Given the description of an element on the screen output the (x, y) to click on. 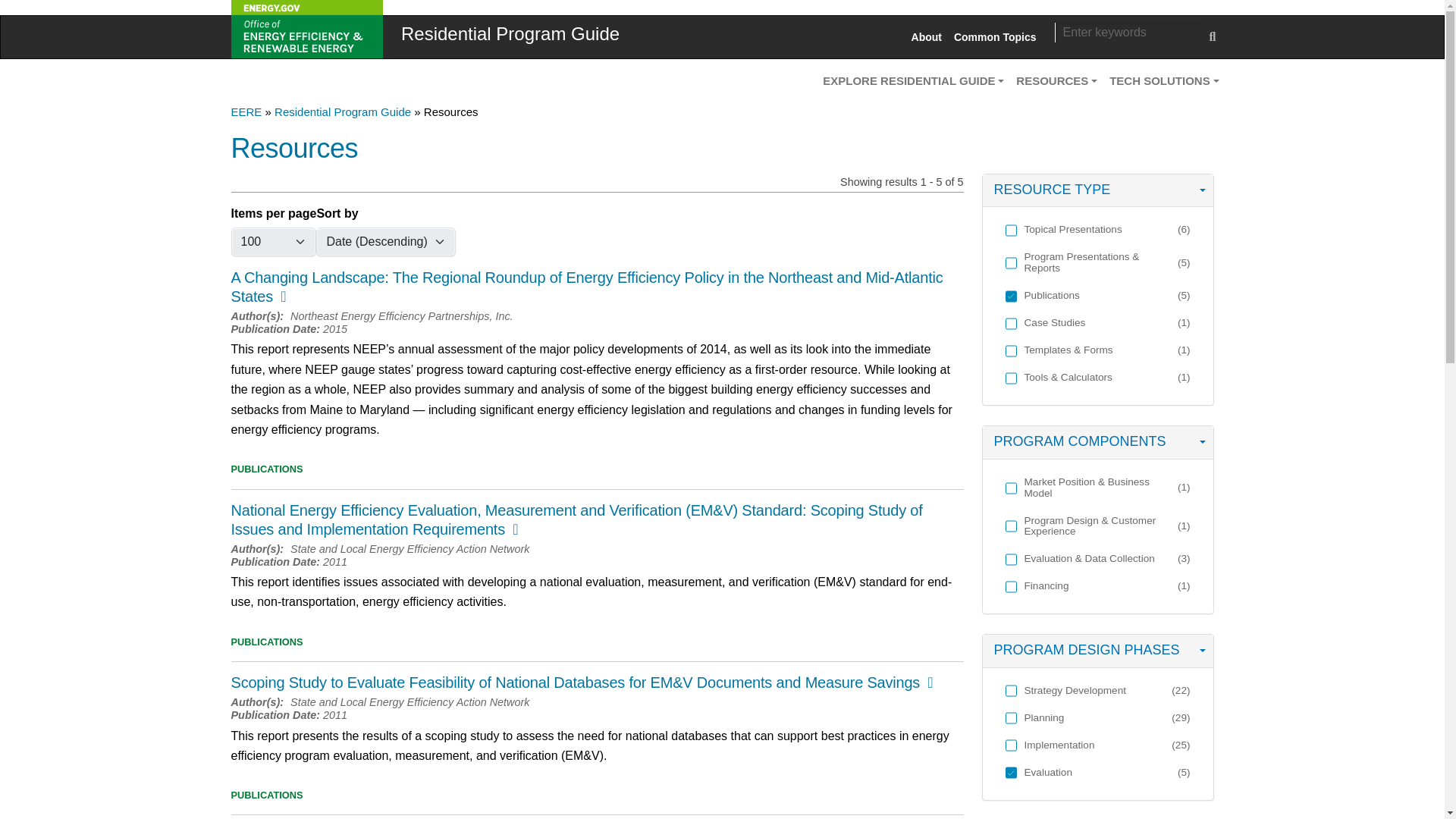
RESOURCES (1056, 80)
Apply (1212, 36)
PROGRAM COMPONENTS (1097, 442)
About (926, 36)
TECH SOLUTIONS (1163, 80)
RESOURCE TYPE (1097, 191)
Common Topics (994, 36)
EXPLORE RESIDENTIAL GUIDE (913, 80)
Apply (24, 15)
Residential Program Guide (502, 33)
EERE (246, 111)
Residential Program Guide (342, 111)
